Given the description of an element on the screen output the (x, y) to click on. 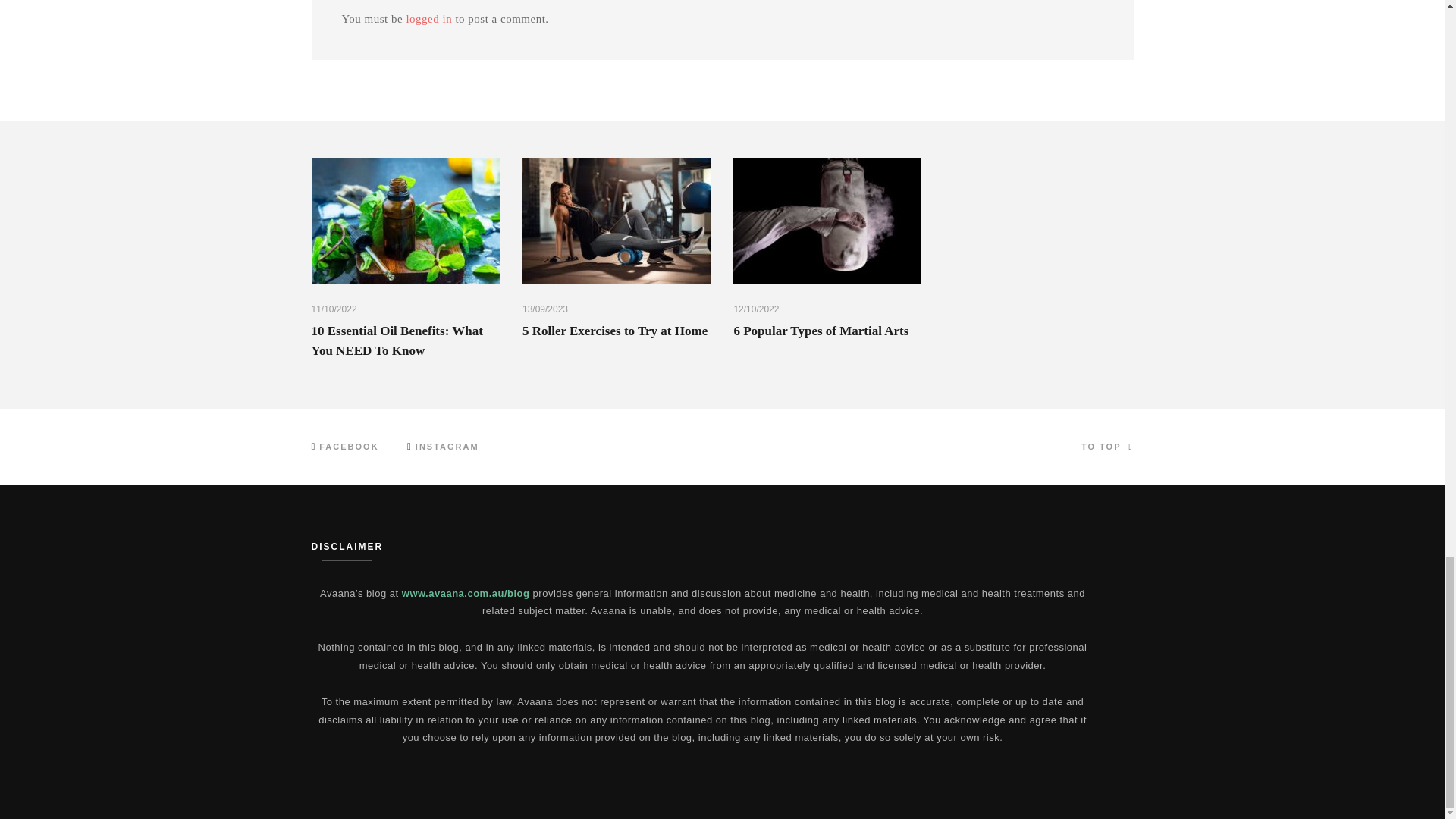
10 Essential Oil Benefits: What You NEED To Know (396, 340)
logged in (428, 19)
TO TOP (1107, 446)
5 Roller Exercises to Try at Home (614, 330)
